Given the description of an element on the screen output the (x, y) to click on. 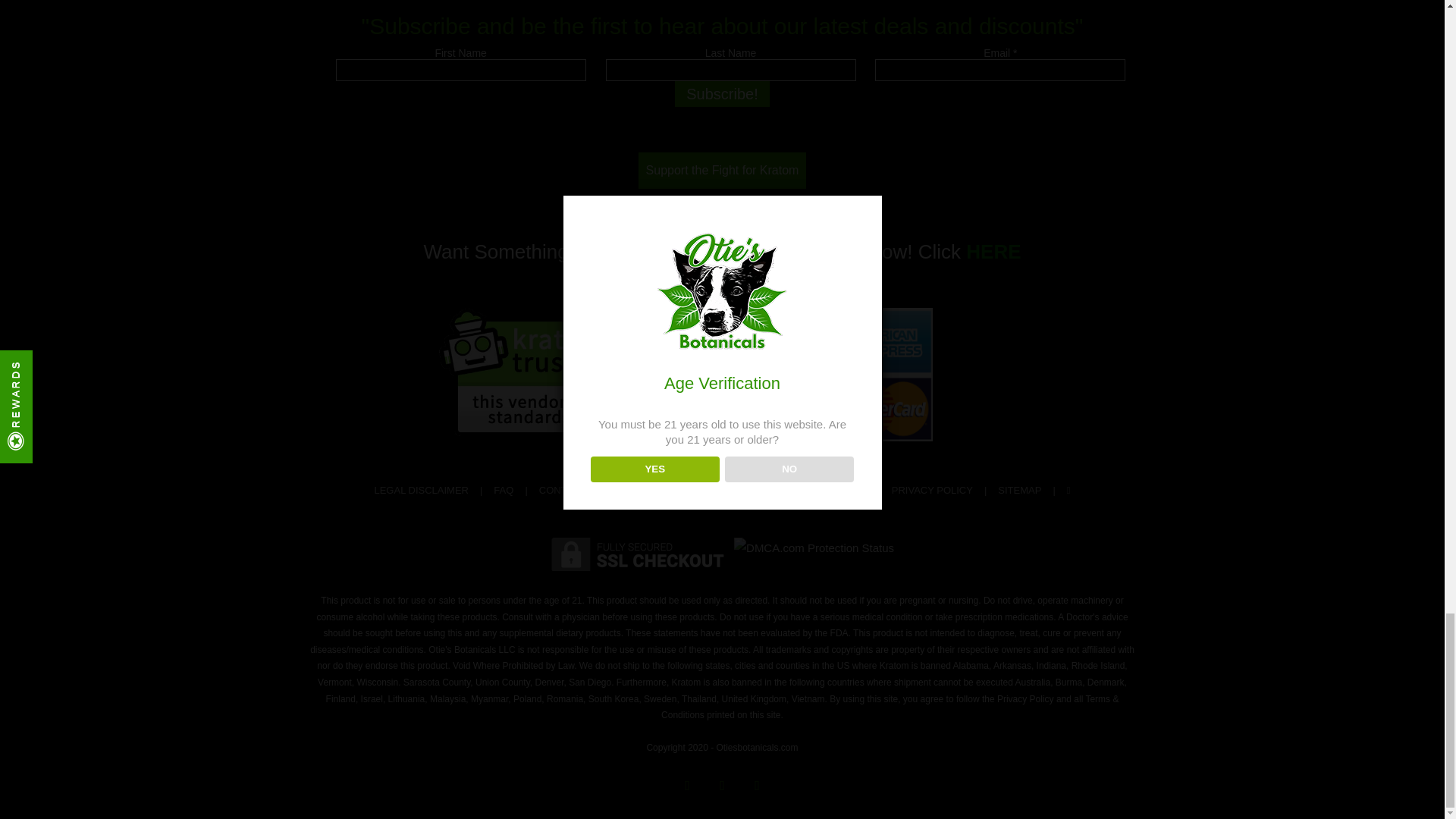
Subscribe! (722, 94)
